Given the description of an element on the screen output the (x, y) to click on. 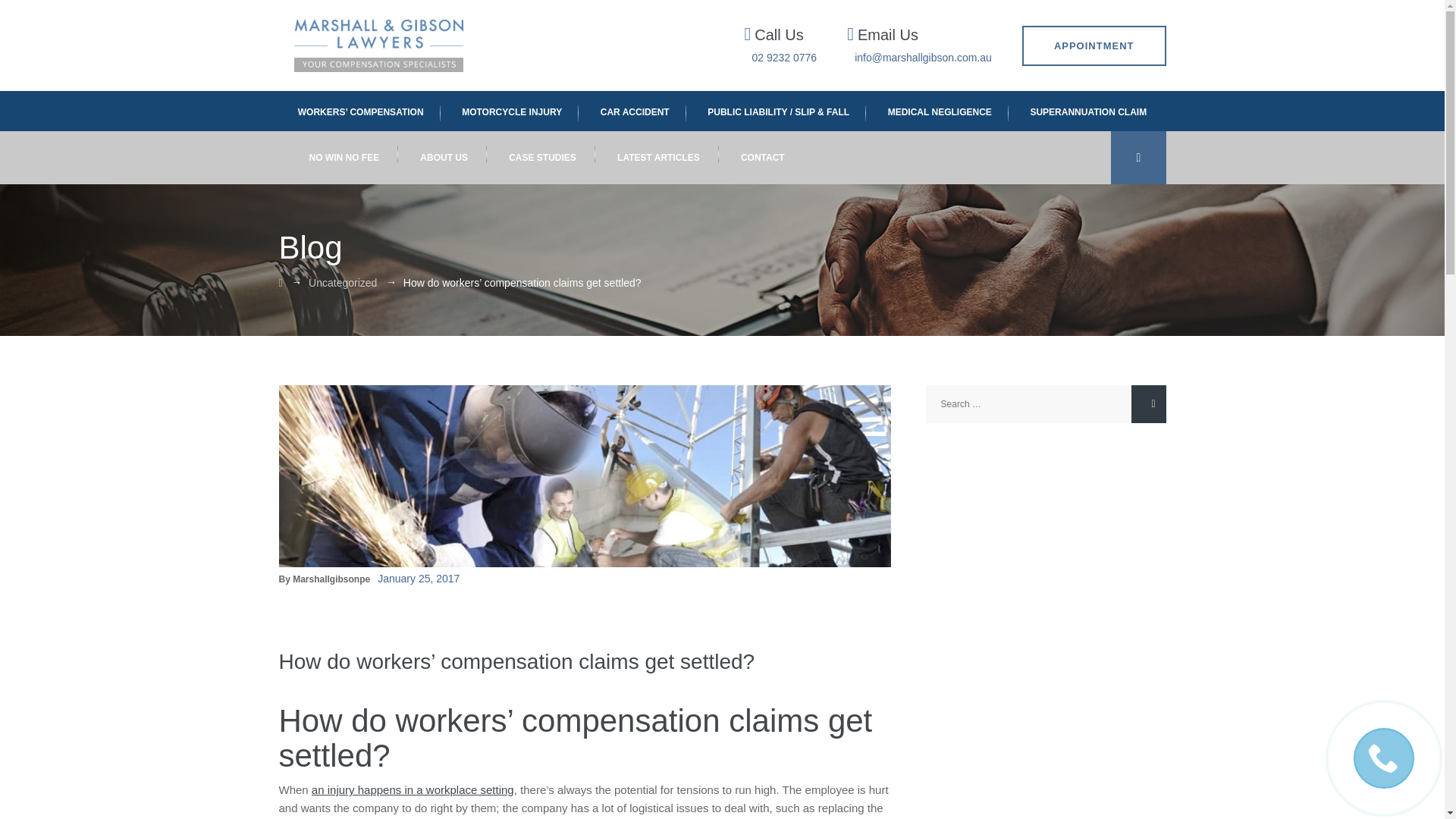
Search (1148, 403)
02 9232 0776 (783, 57)
ABOUT US (443, 157)
MOTORCYCLE ACCIDENT LAWYER SYDNEY (511, 111)
CONTACT (762, 157)
Go to the Uncategorized Category archives. (342, 282)
January 25, 2017 (418, 578)
NO WIN NO FEE (343, 157)
SUPERANNUATION CLAIM (1088, 111)
MOTOR VEHICLE ACCIDENT COMPENSATION LAWYERS SYDNEY (634, 111)
